Given the description of an element on the screen output the (x, y) to click on. 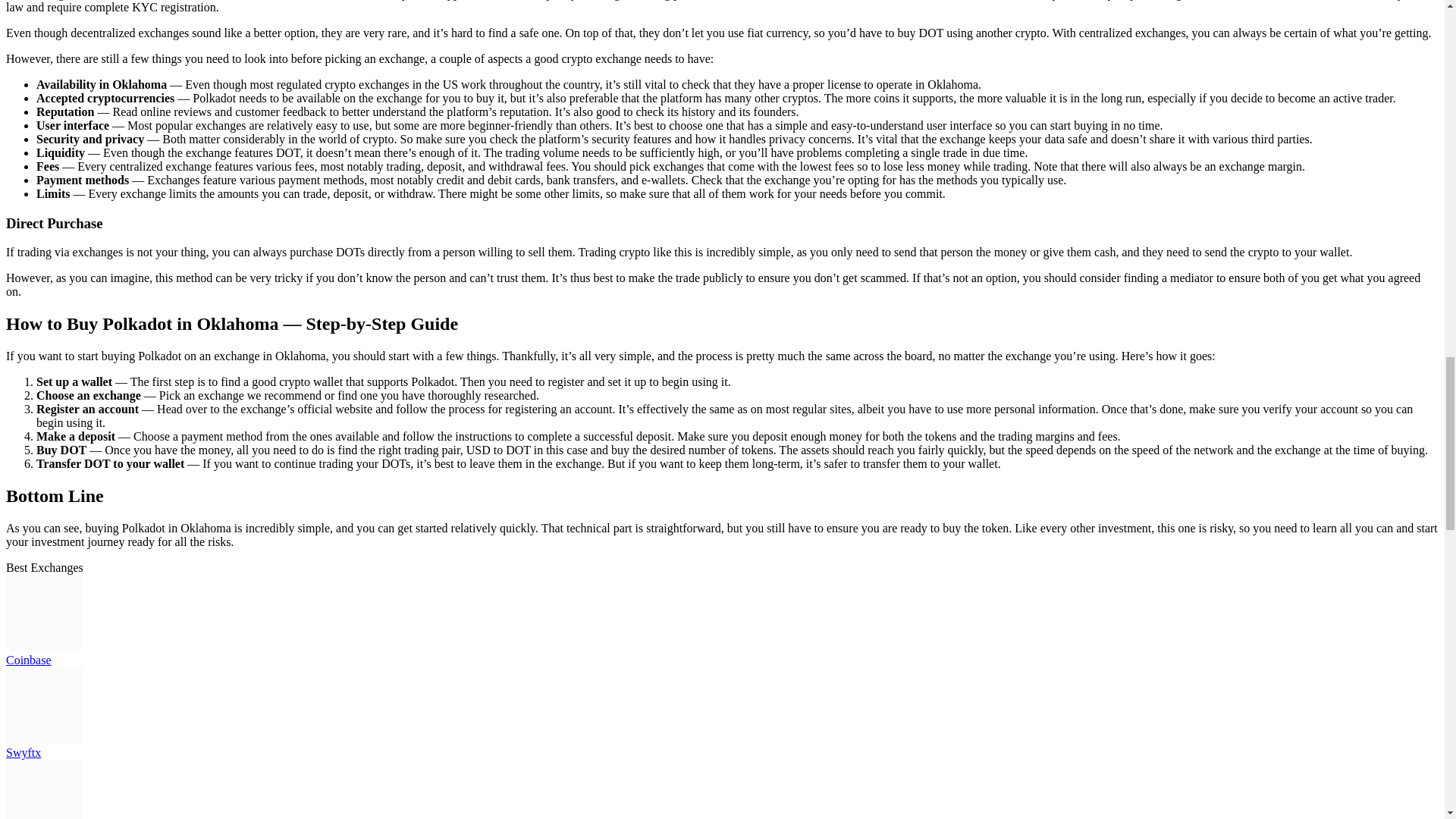
Swyftx (22, 752)
Coinbase (27, 659)
Coinbase (43, 645)
Swyftx (43, 738)
